Given the description of an element on the screen output the (x, y) to click on. 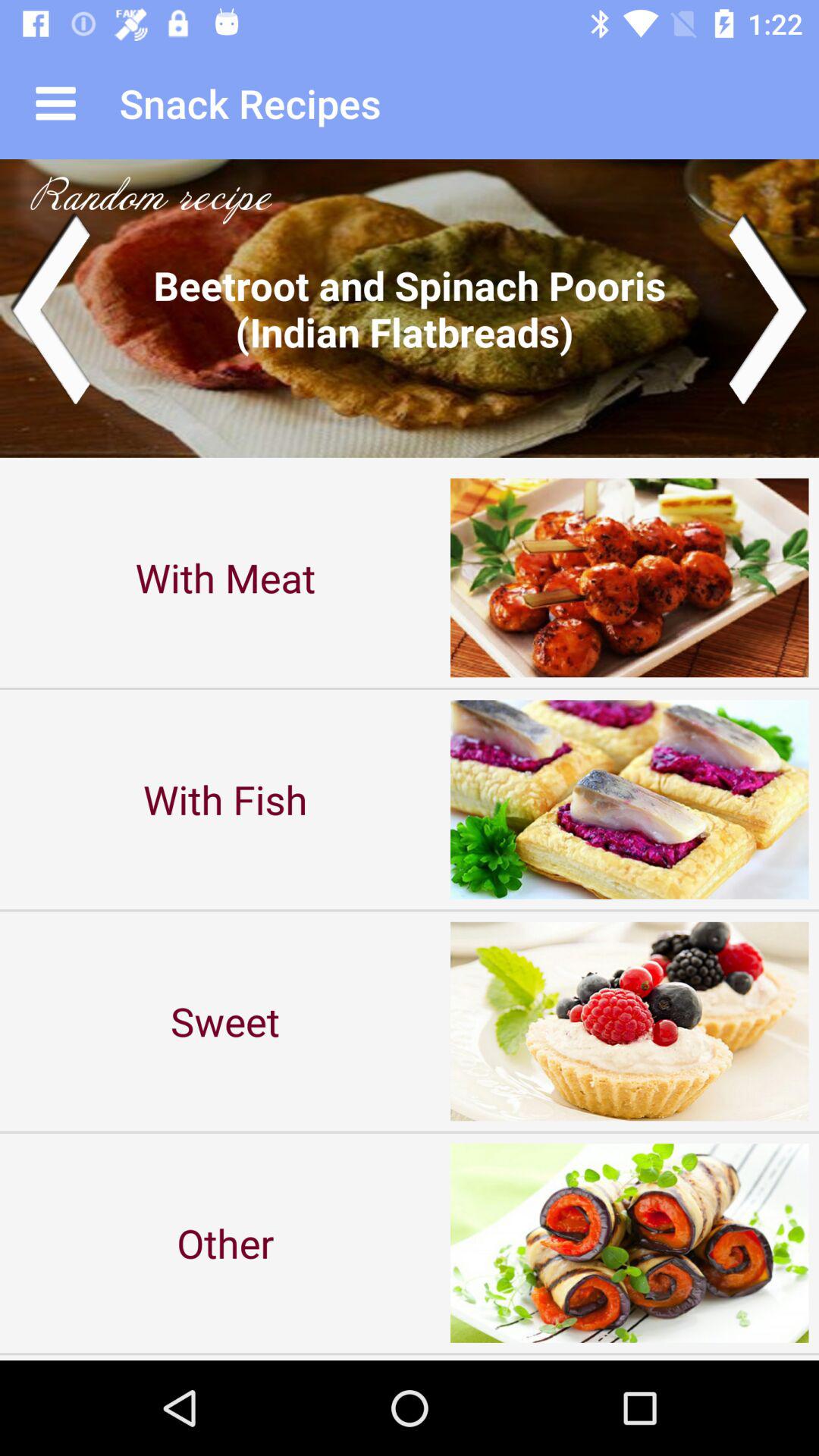
press the with fish item (225, 798)
